Given the description of an element on the screen output the (x, y) to click on. 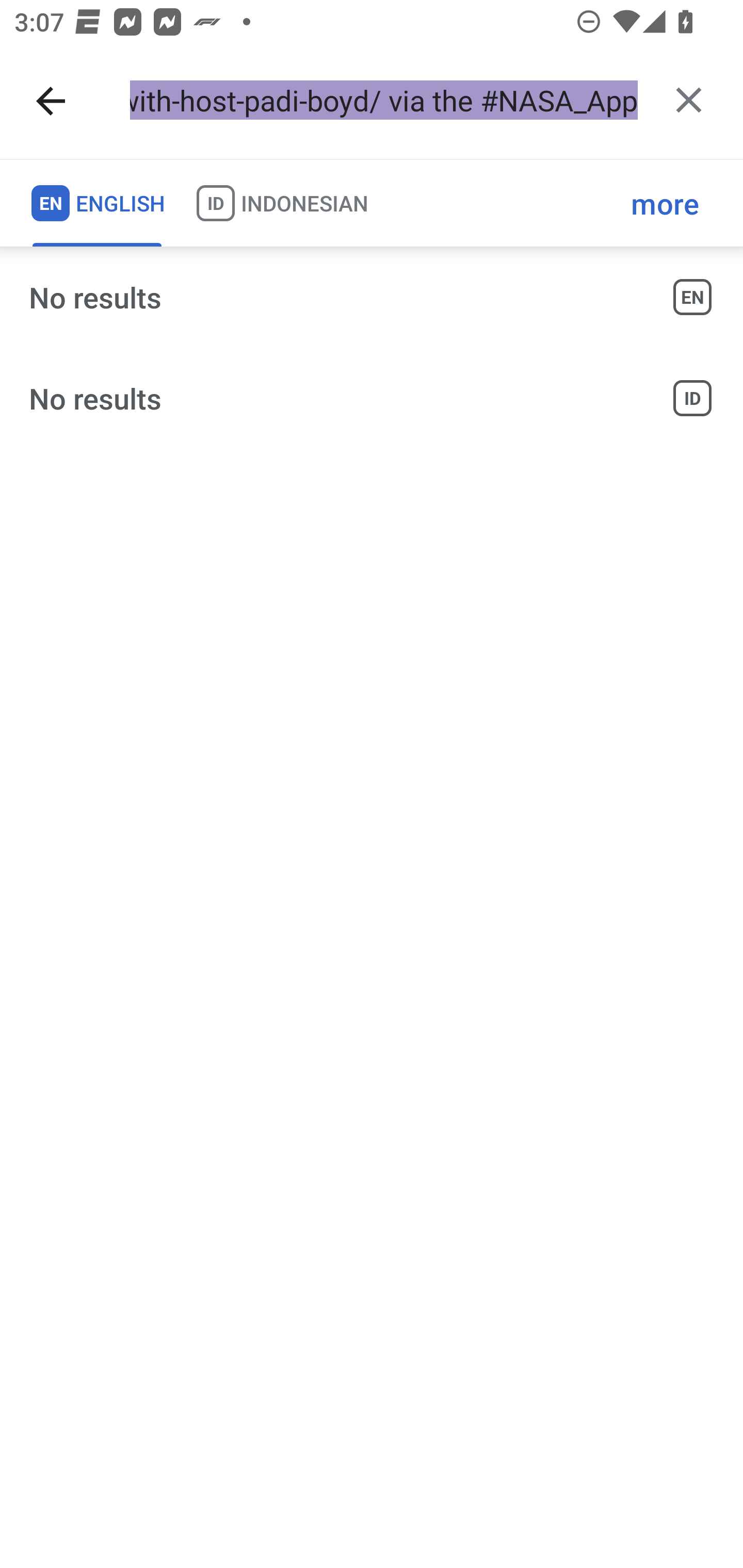
Navigate up (50, 101)
Clear query (688, 99)
ID INDONESIAN (281, 202)
more (664, 202)
No results EN (371, 297)
No results ID (371, 398)
